Given the description of an element on the screen output the (x, y) to click on. 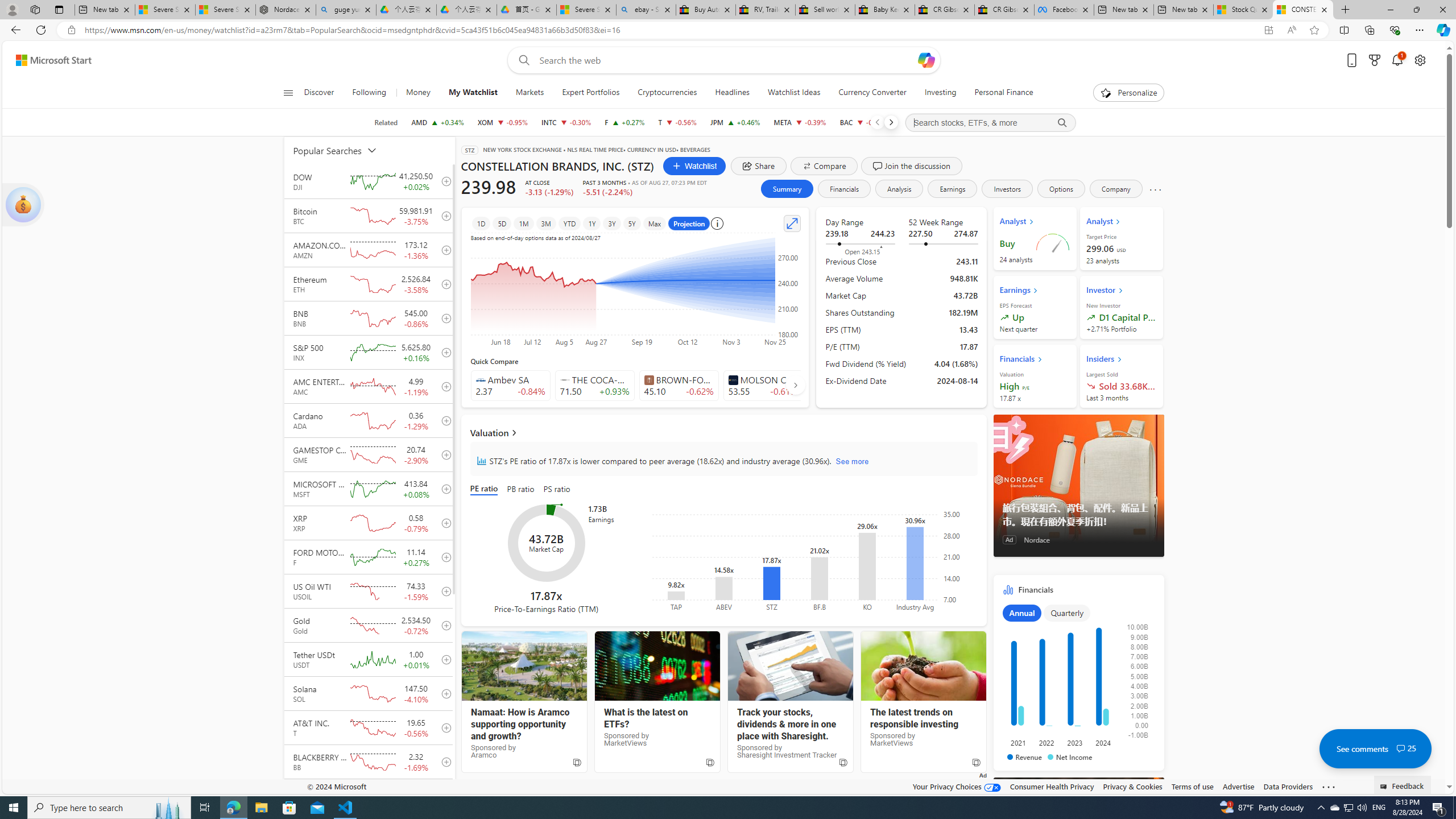
Investors (1006, 188)
Class: autoSuggestIcon-DS-EntryPoint1-1 (733, 379)
MarketViews (922, 666)
AutomationID: finance_carousel_navi_arrow (795, 385)
My Watchlist (472, 92)
T AT&T INC. decrease 19.65 -0.11 -0.56% (677, 122)
Currency Converter (872, 92)
Your Privacy Choices (956, 786)
